Given the description of an element on the screen output the (x, y) to click on. 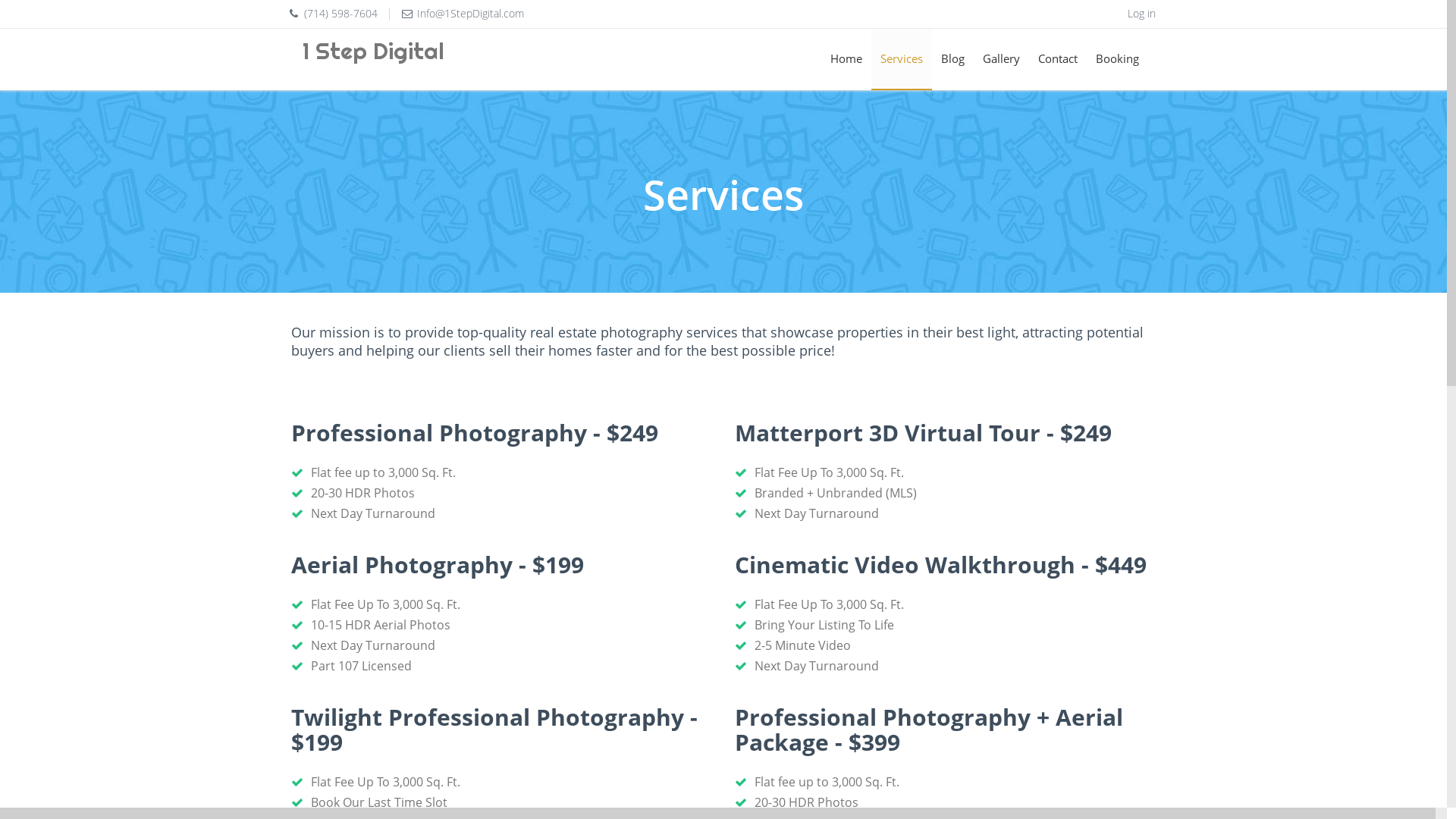
Home Element type: text (846, 58)
Info@1StepDigital.com Element type: text (470, 13)
Blog Element type: text (952, 58)
1 Step Digital Element type: text (398, 58)
Gallery Element type: text (1001, 58)
Log in Element type: text (1141, 13)
Contact Element type: text (1057, 58)
Booking Element type: text (1117, 58)
(714) 598-7604 Element type: text (339, 13)
Services Element type: text (901, 59)
